Given the description of an element on the screen output the (x, y) to click on. 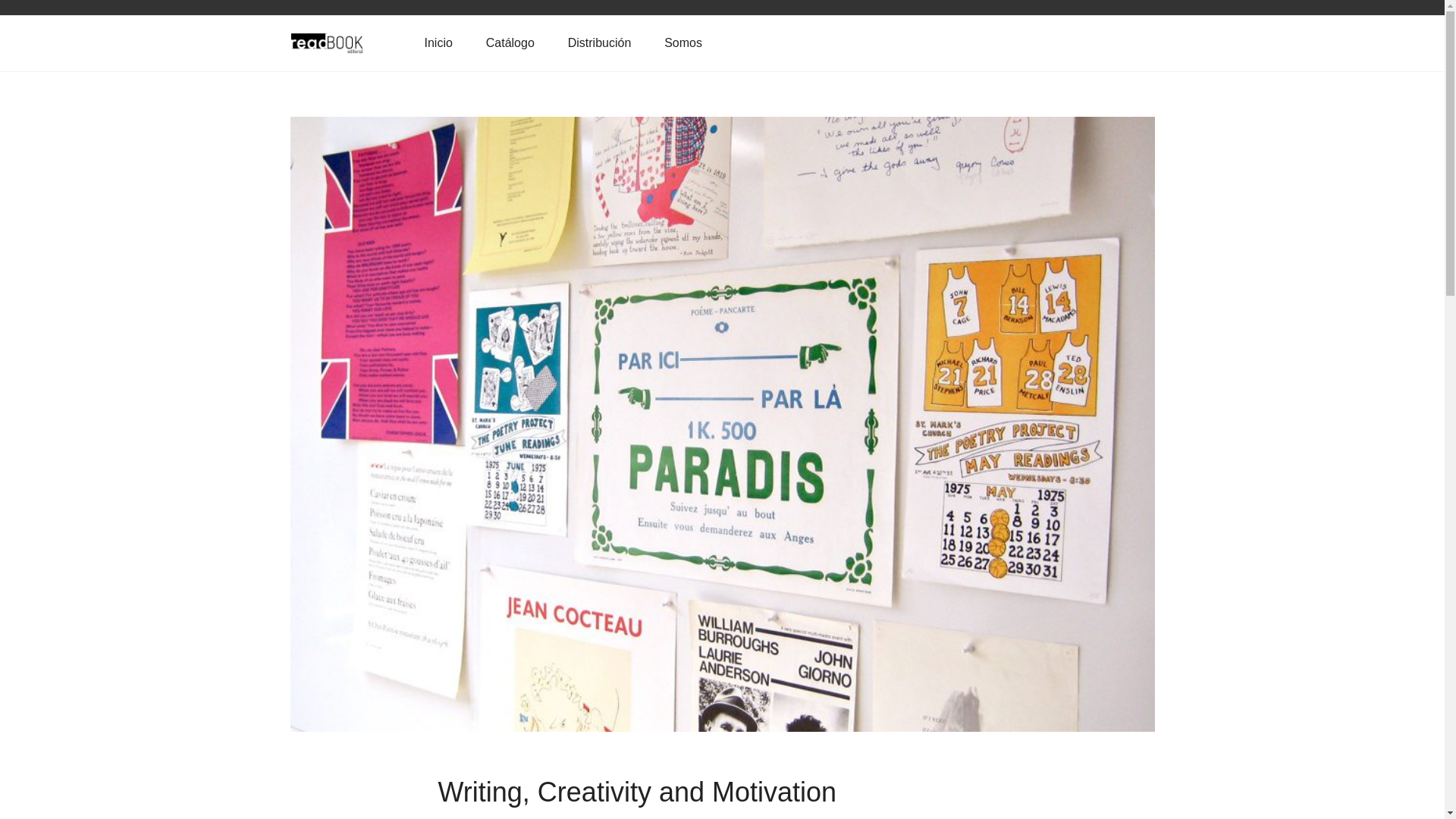
Somos (683, 43)
Inicio (438, 43)
